Given the description of an element on the screen output the (x, y) to click on. 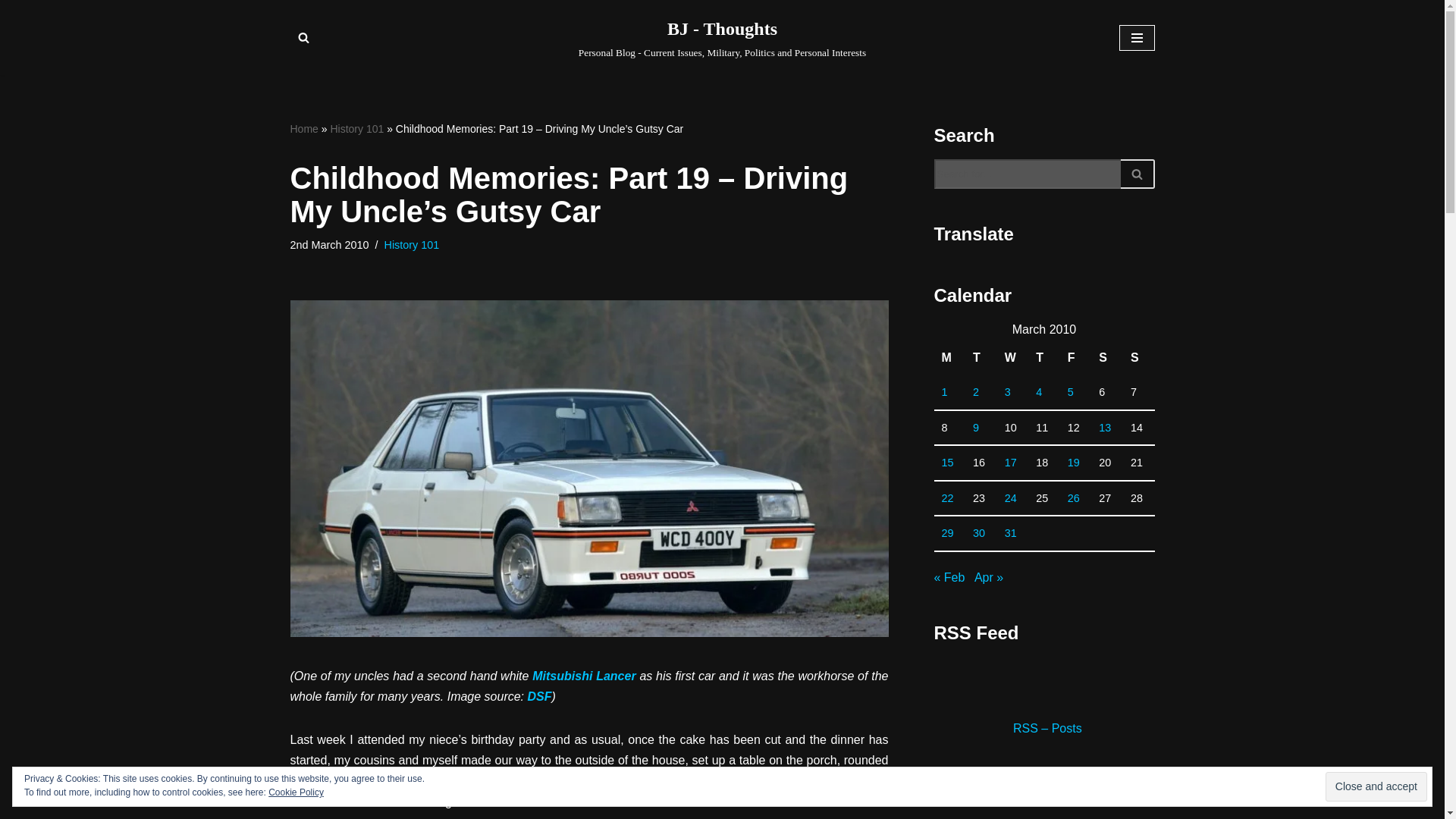
Close and accept (1375, 786)
History 101 (411, 244)
Mitsubishi Lancer (583, 675)
Mitsubishi Lancer (583, 675)
History 101 (357, 128)
Navigation Menu (1136, 37)
Skip to content (11, 31)
Home (303, 128)
DSF (539, 696)
